Given the description of an element on the screen output the (x, y) to click on. 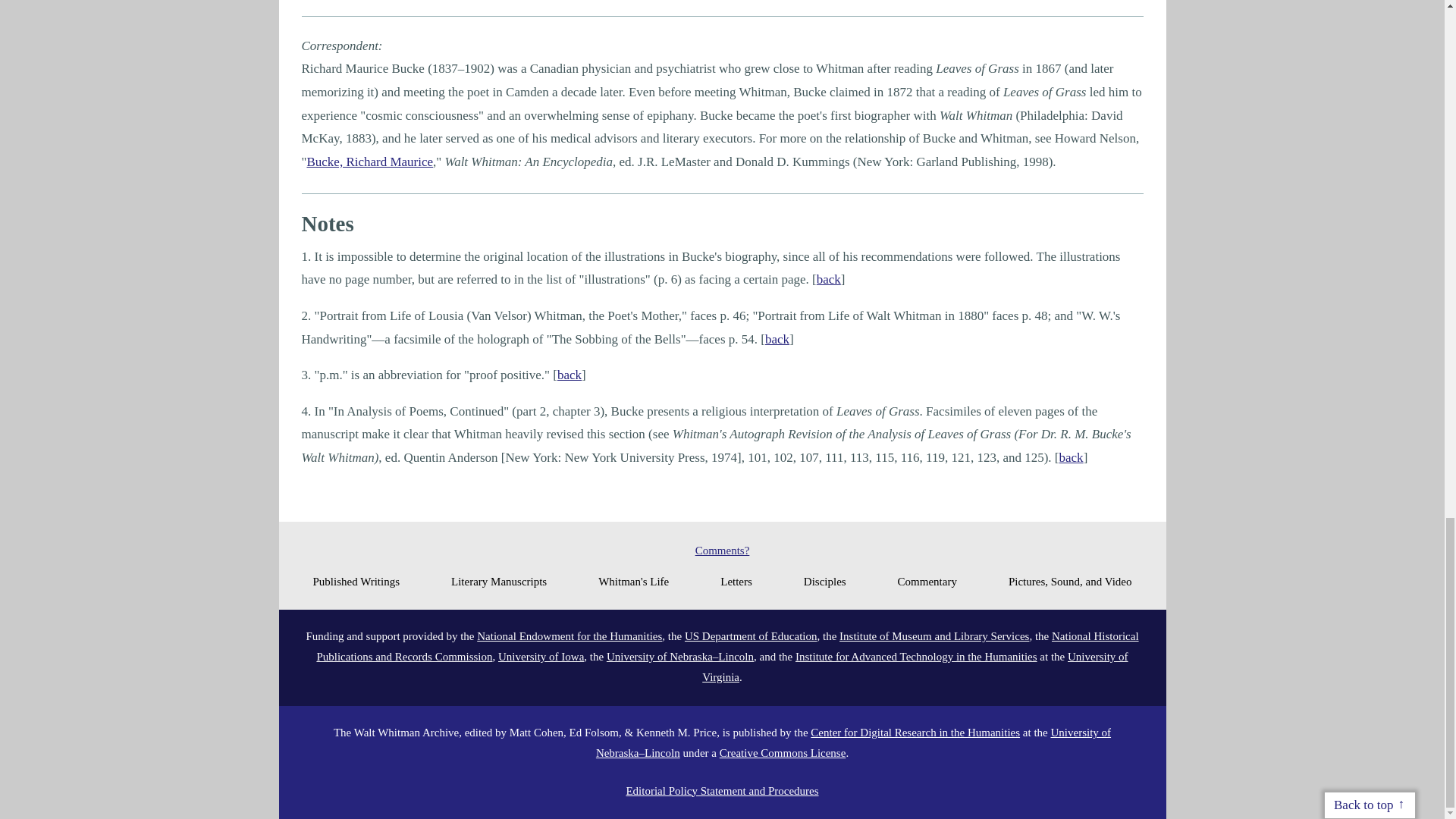
Comments? (722, 550)
Literary Manuscripts (499, 581)
Commentary (927, 581)
Letters (736, 581)
National Endowment for the Humanities (569, 635)
US Department of Education (750, 635)
back (828, 278)
Disciples (824, 581)
back (777, 339)
Pictures, Sound, and Video (1070, 581)
back (568, 374)
back (1071, 457)
Bucke, Richard Maurice (368, 161)
Whitman's Life (633, 581)
Published Writings (355, 581)
